Given the description of an element on the screen output the (x, y) to click on. 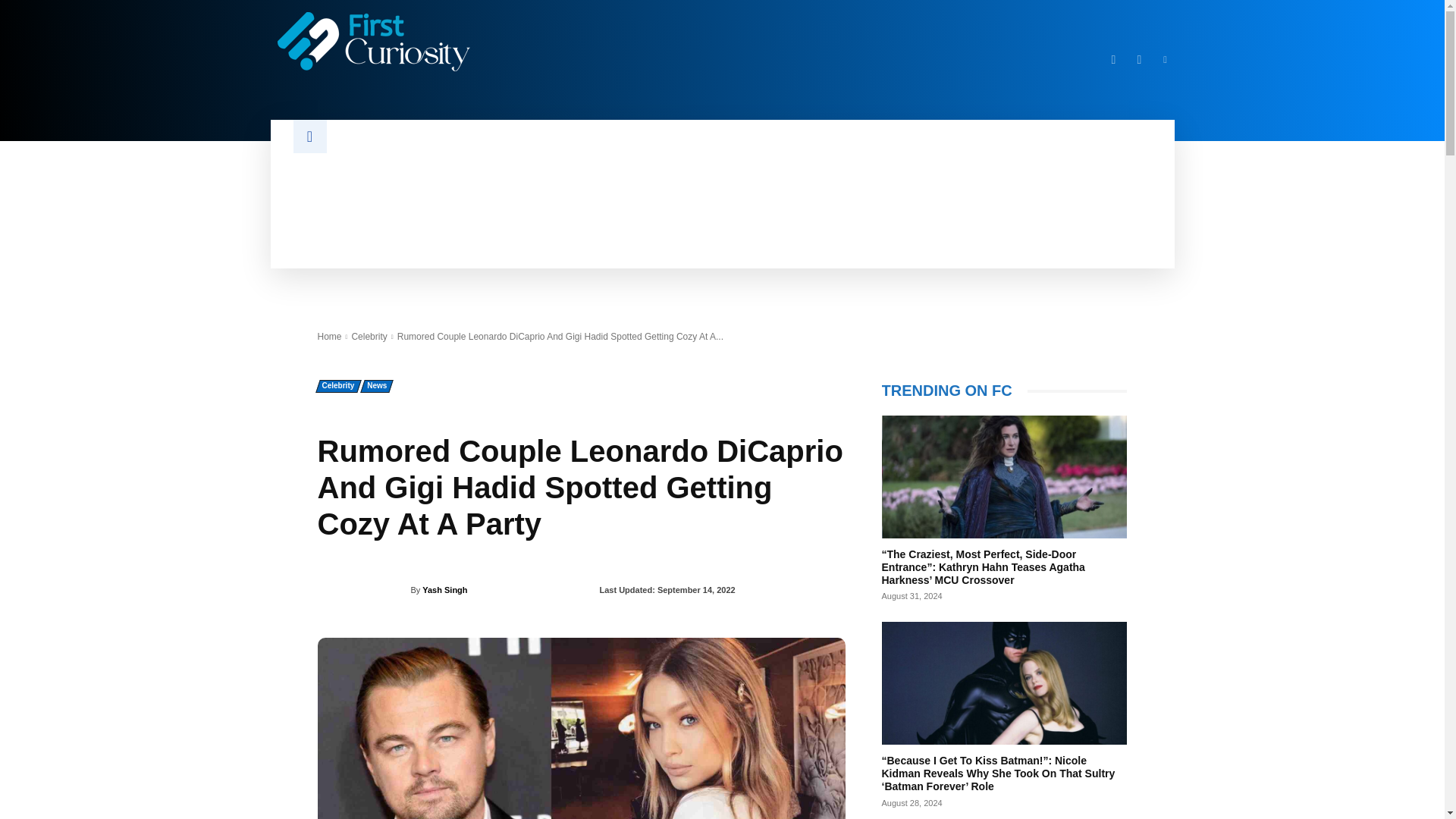
Facebook (1112, 59)
Celebrity (368, 336)
Linkedin (1164, 59)
View all posts in Celebrity (368, 336)
Twitter (1138, 59)
Home (328, 336)
